Given the description of an element on the screen output the (x, y) to click on. 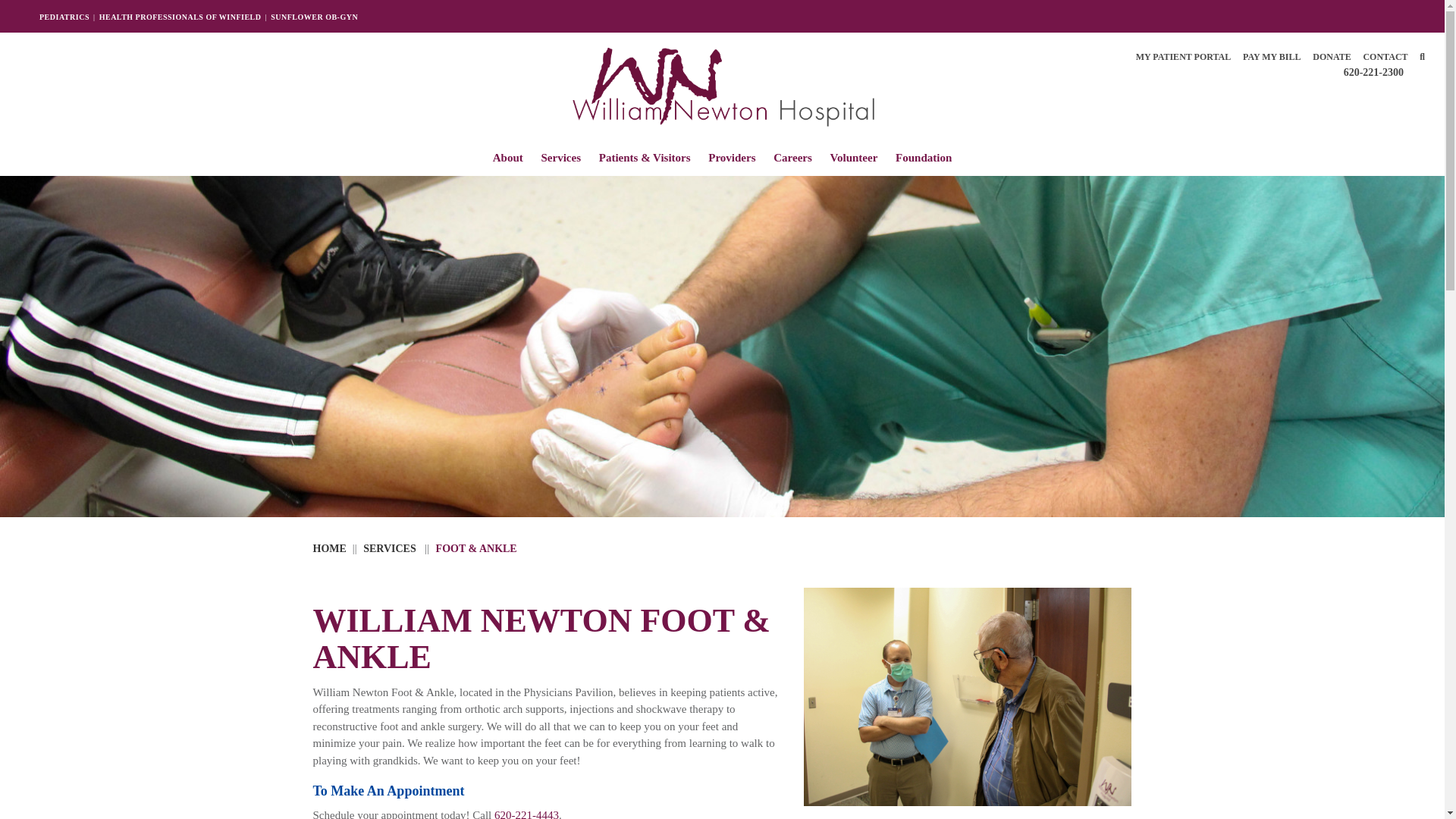
HEALTH PROFESSIONALS OF WINFIELD (180, 16)
PEDIATRICS (63, 16)
About (507, 158)
PAY MY BILL (1271, 56)
CONTACT (1384, 56)
DONATE (1332, 56)
MY PATIENT PORTAL (1183, 56)
Services (560, 158)
SUNFLOWER OB-GYN (314, 16)
Providers (731, 158)
